Given the description of an element on the screen output the (x, y) to click on. 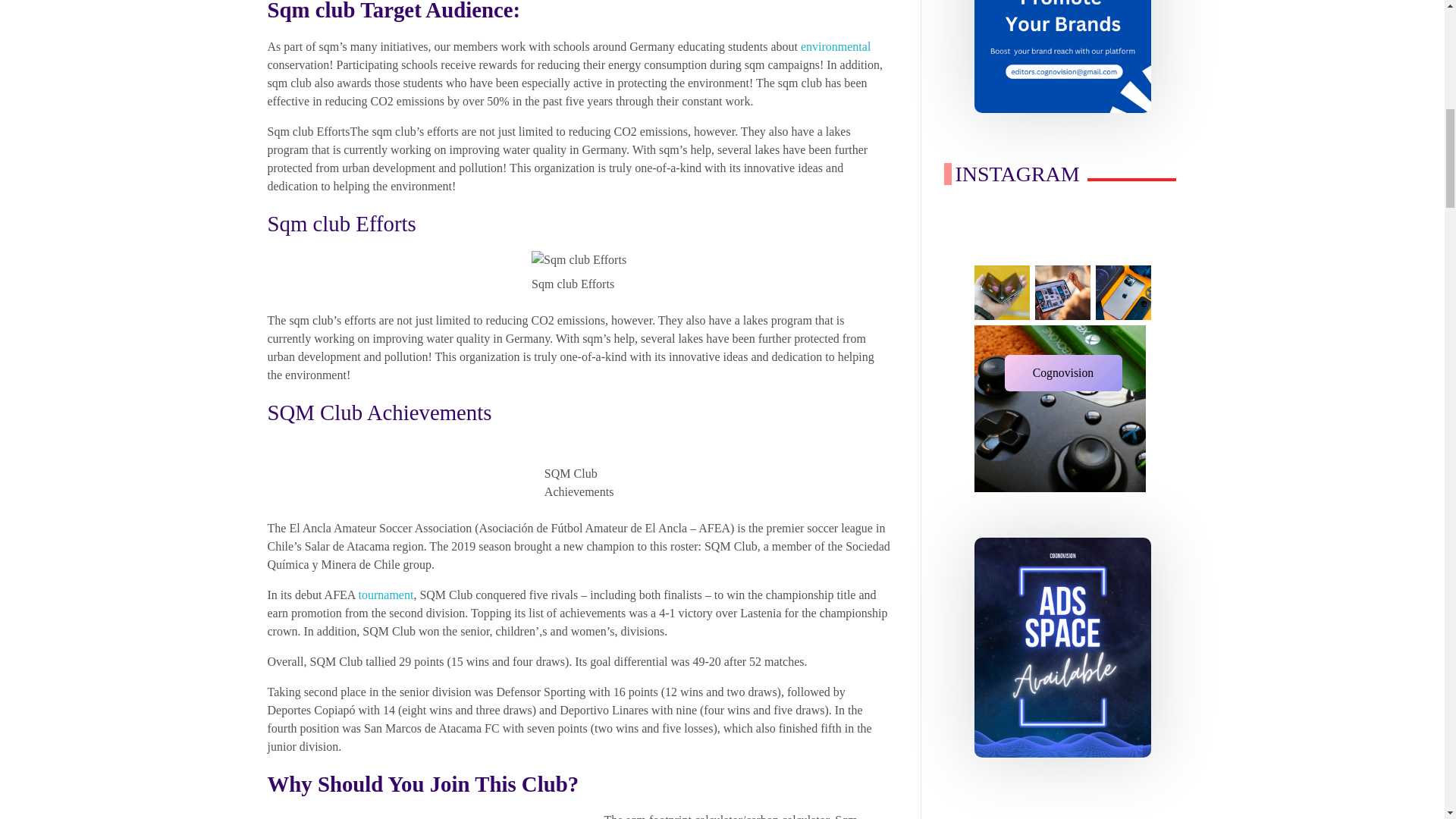
tournament (385, 594)
environmental (835, 46)
